Given the description of an element on the screen output the (x, y) to click on. 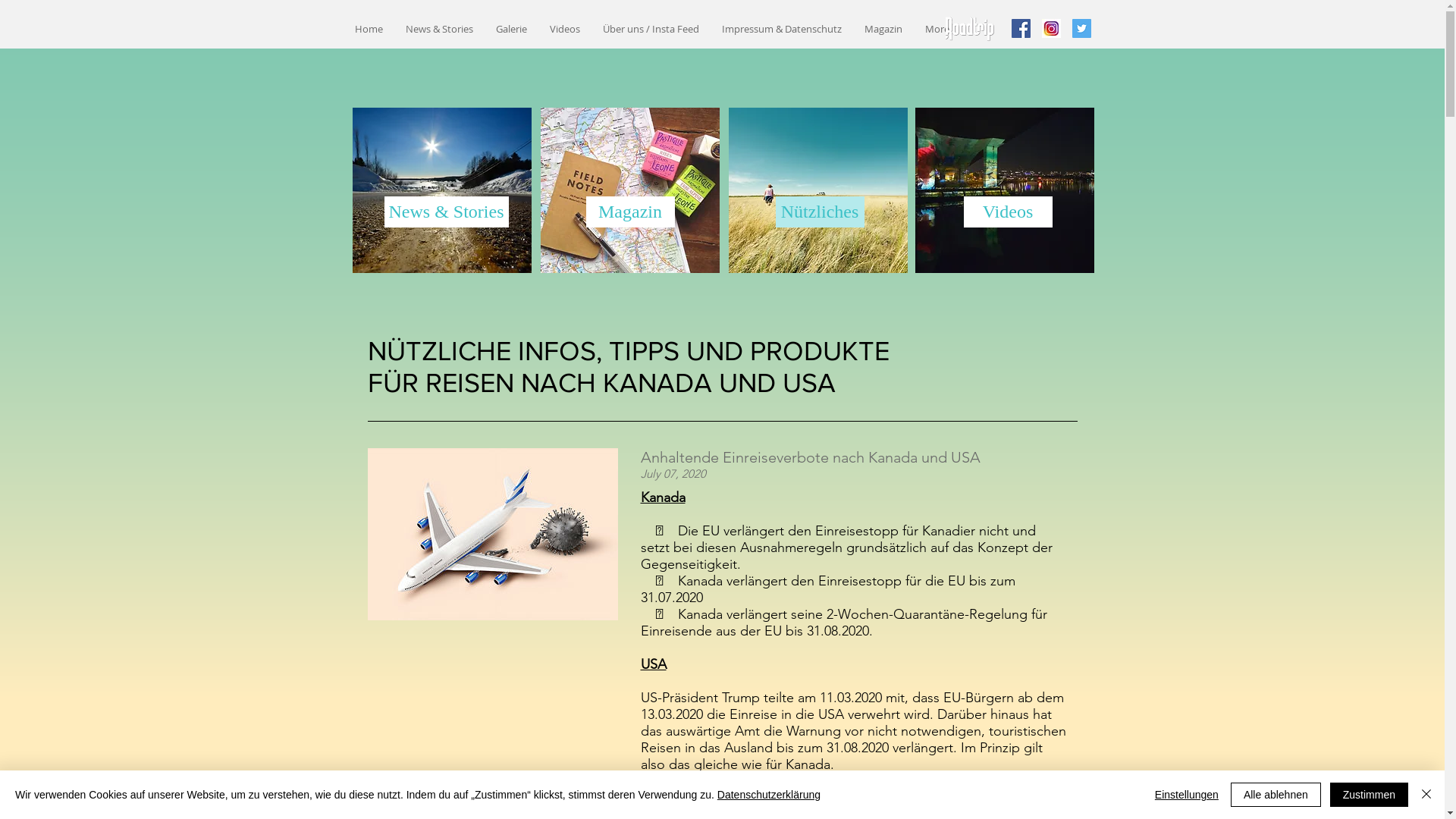
Videos Element type: text (1007, 211)
Impressum & Datenschutz Element type: text (780, 28)
Home Element type: text (367, 28)
Zustimmen Element type: text (1369, 794)
Alle ablehnen Element type: text (1275, 794)
Magazin Element type: text (629, 211)
News & Stories Element type: text (439, 28)
_DSC5336.jpg Element type: hover (817, 190)
News & Stories Element type: text (445, 211)
Magazin Element type: text (882, 28)
Site Search Element type: hover (1187, 25)
Videos Element type: text (564, 28)
Galerie Element type: text (510, 28)
